Given the description of an element on the screen output the (x, y) to click on. 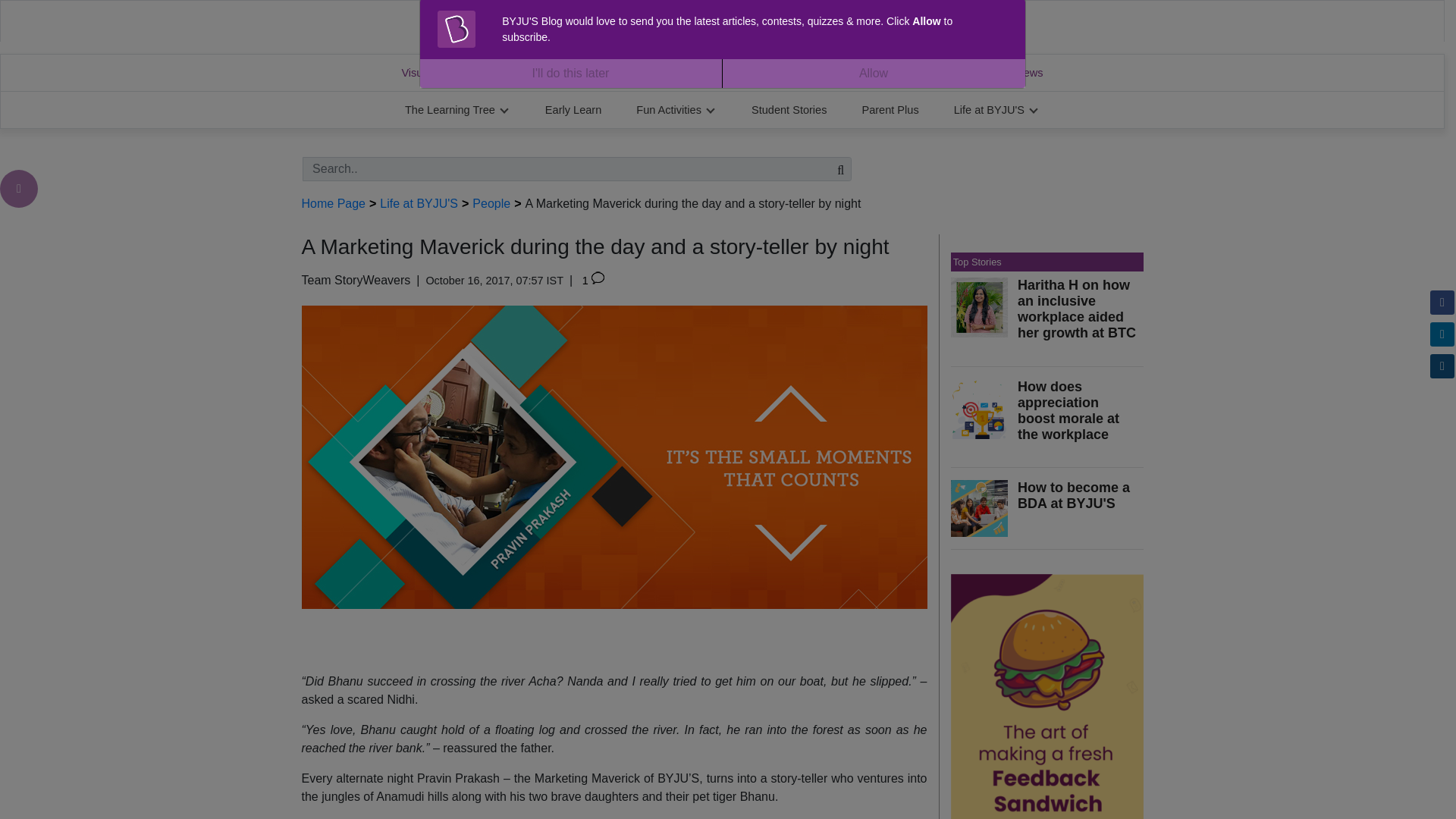
Visual Stories (434, 72)
The Learning Tree (457, 109)
Did You Know? (548, 72)
Bulletin Board (663, 72)
Social Initiatives (880, 72)
Tooltip on left (18, 188)
Early Learn (572, 109)
BYJU'S in News (1002, 72)
Quiz Corner (769, 72)
